Given the description of an element on the screen output the (x, y) to click on. 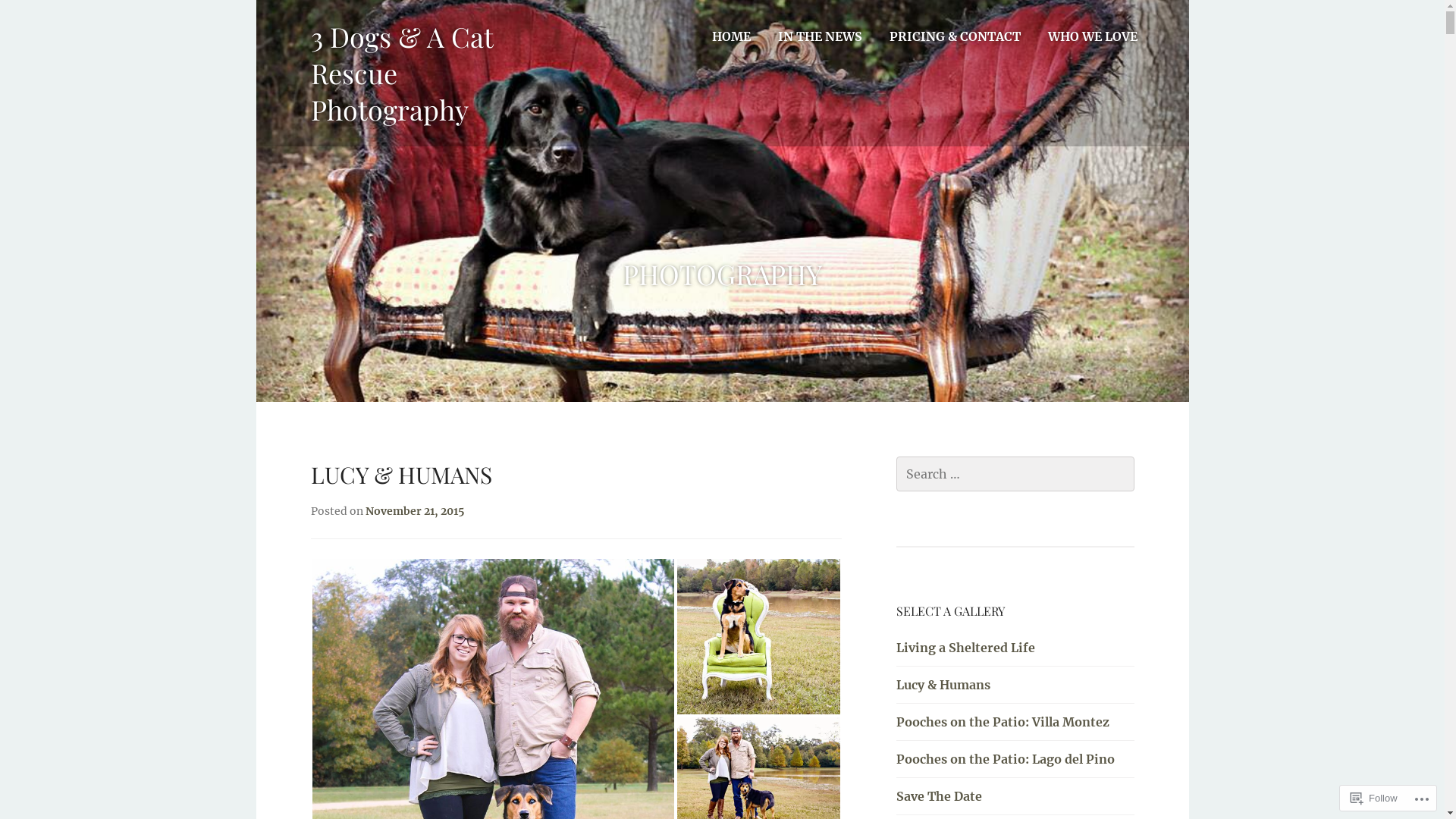
Save The Date Element type: text (939, 795)
PRICING & CONTACT Element type: text (953, 36)
Pooches on the Patio: Villa Montez Element type: text (1002, 721)
November 21, 2015 Element type: text (414, 510)
Lucy & Humans Element type: text (943, 684)
Pooches on the Patio: Lago del Pino Element type: text (1005, 758)
IN THE NEWS Element type: text (820, 36)
WHO WE LOVE Element type: text (1092, 36)
Living a Sheltered Life Element type: text (965, 647)
Follow Element type: text (1373, 797)
LUCY & HUMANS Element type: text (401, 474)
3 Dogs & A Cat Rescue Photography Element type: text (401, 72)
11148740_559639910849656_599042760147212496_n Element type: hover (757, 636)
HOME Element type: text (730, 36)
Search Element type: text (45, 17)
